Given the description of an element on the screen output the (x, y) to click on. 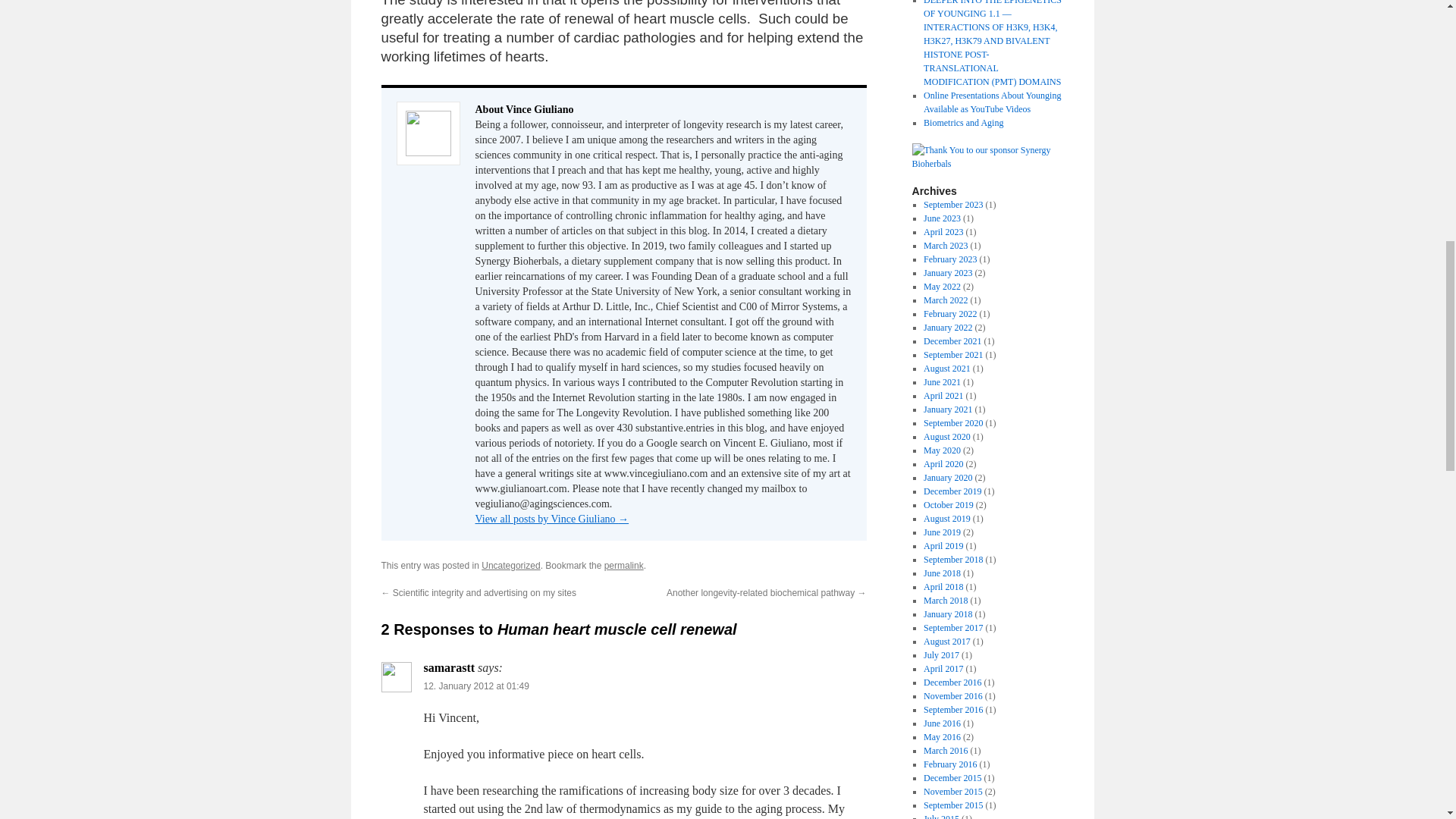
12. January 2012 at 01:49 (475, 685)
Uncategorized (510, 565)
Permalink to Human heart muscle cell renewal (623, 565)
permalink (623, 565)
